Given the description of an element on the screen output the (x, y) to click on. 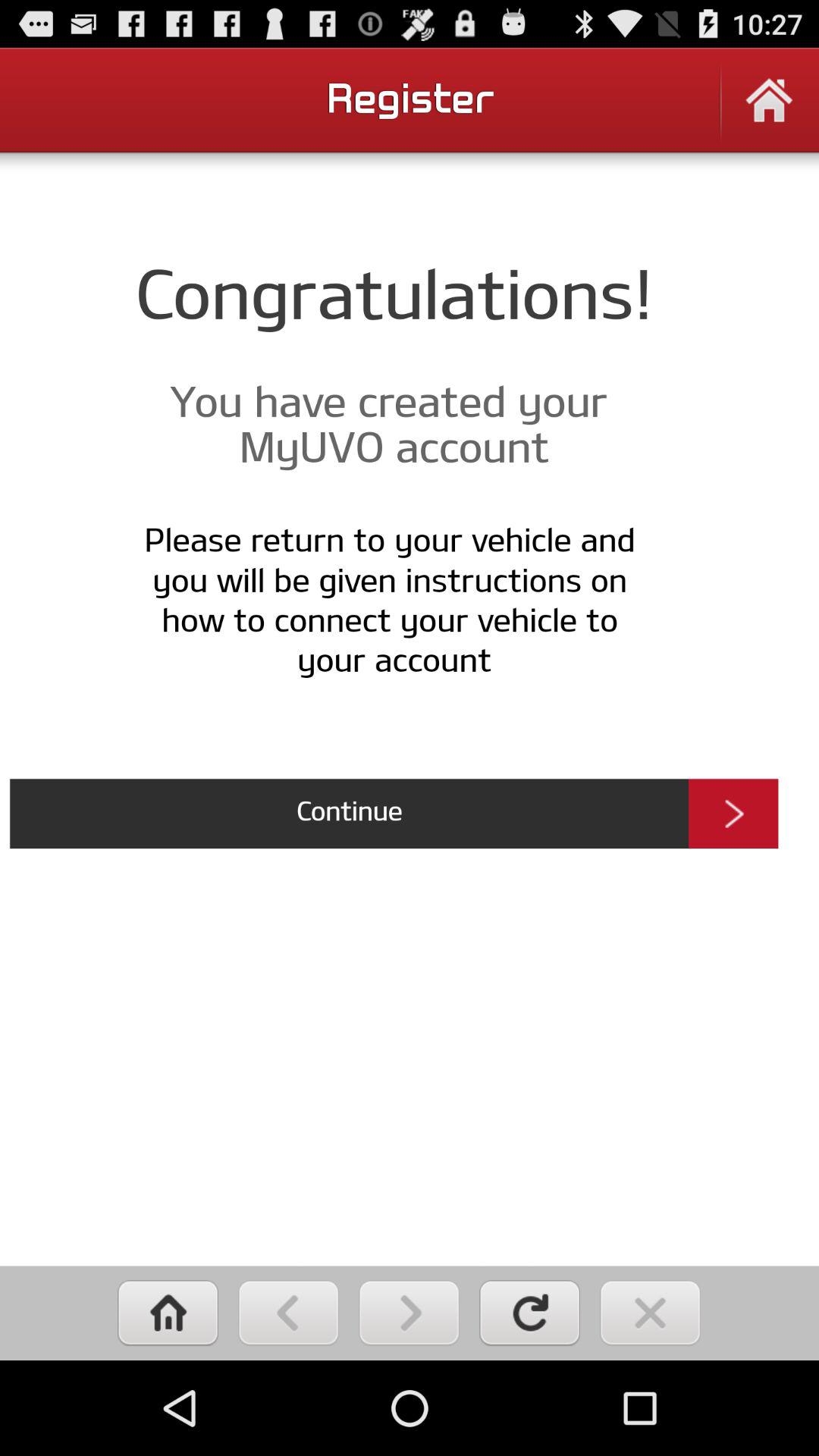
go to previous (288, 1313)
